Given the description of an element on the screen output the (x, y) to click on. 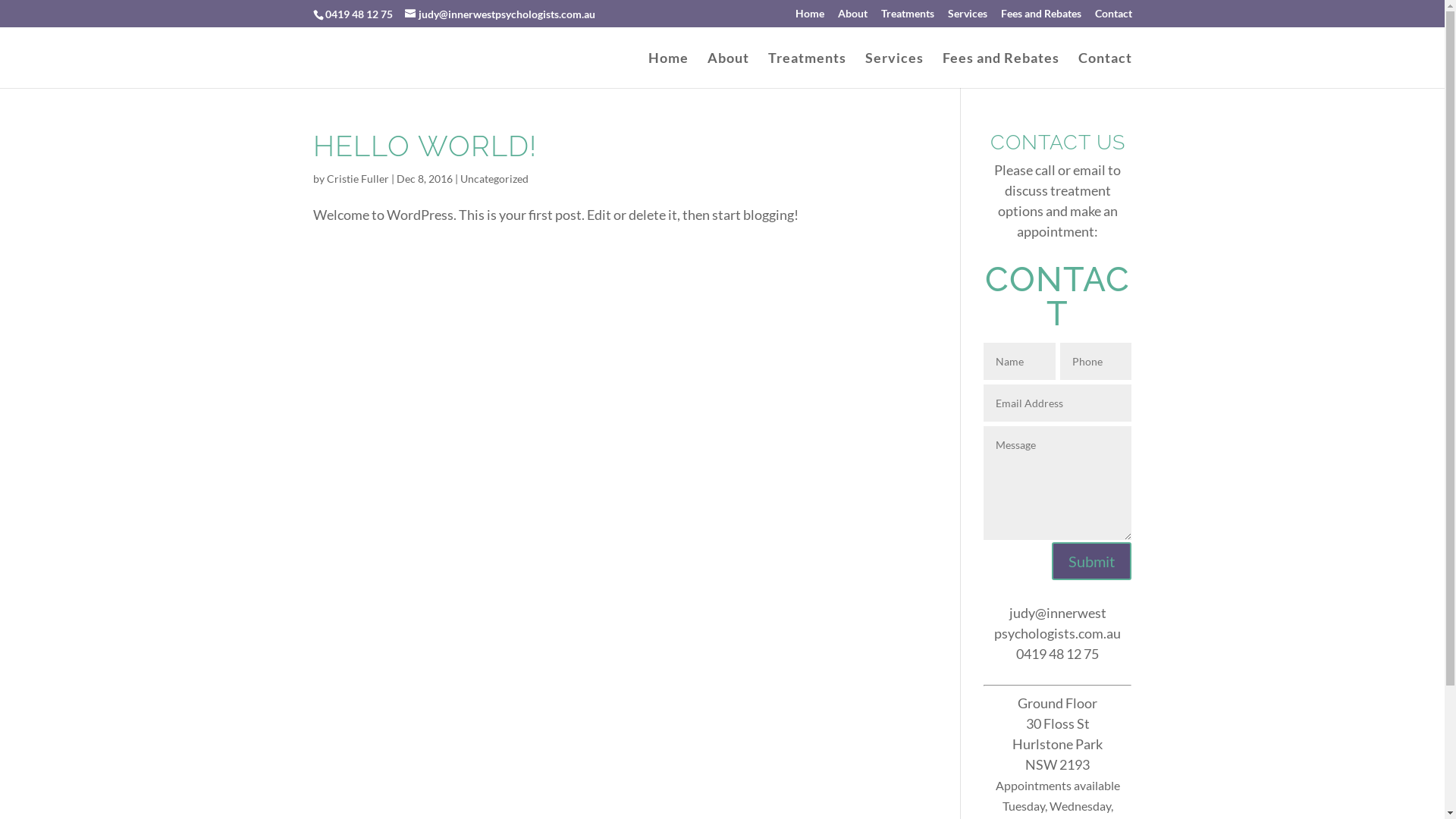
judy@innerwestpsychologists.com.au Element type: text (499, 13)
Contact Element type: text (1113, 16)
Fees and Rebates Element type: text (1041, 16)
Submit Element type: text (1091, 561)
About Element type: text (851, 16)
About Element type: text (727, 69)
judy@innerwest
psychologists.com.au Element type: text (1057, 622)
Services Element type: text (893, 69)
Home Element type: text (667, 69)
Services Element type: text (967, 16)
Cristie Fuller Element type: text (357, 178)
Treatments Element type: text (907, 16)
Home Element type: text (808, 16)
Uncategorized Element type: text (493, 178)
Fees and Rebates Element type: text (999, 69)
HELLO WORLD! Element type: text (424, 145)
Treatments Element type: text (806, 69)
Contact Element type: text (1105, 69)
